Given the description of an element on the screen output the (x, y) to click on. 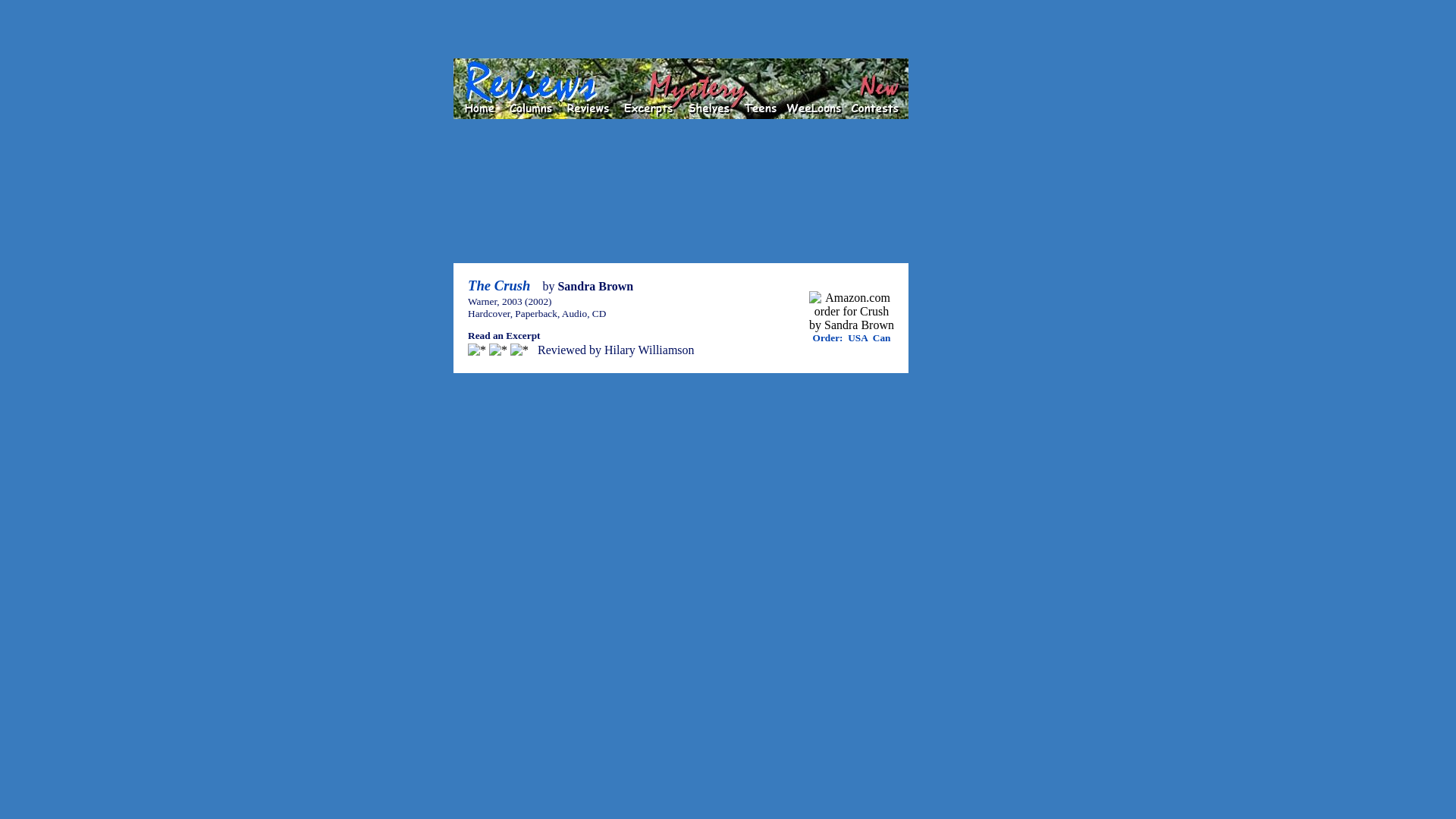
Can (881, 337)
Read an Excerpt (503, 335)
USA (857, 337)
